Given the description of an element on the screen output the (x, y) to click on. 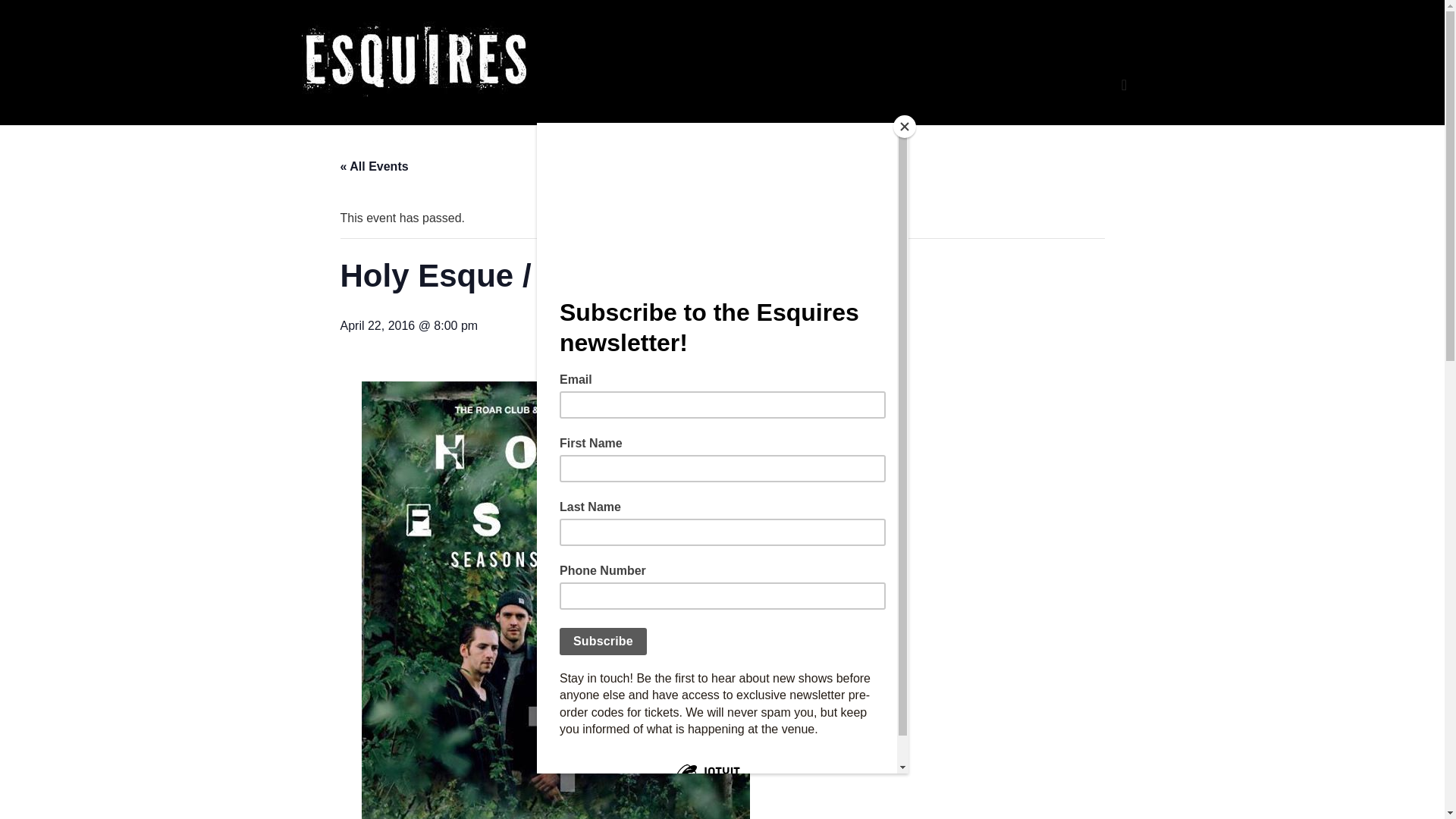
MENU (1123, 85)
